Given the description of an element on the screen output the (x, y) to click on. 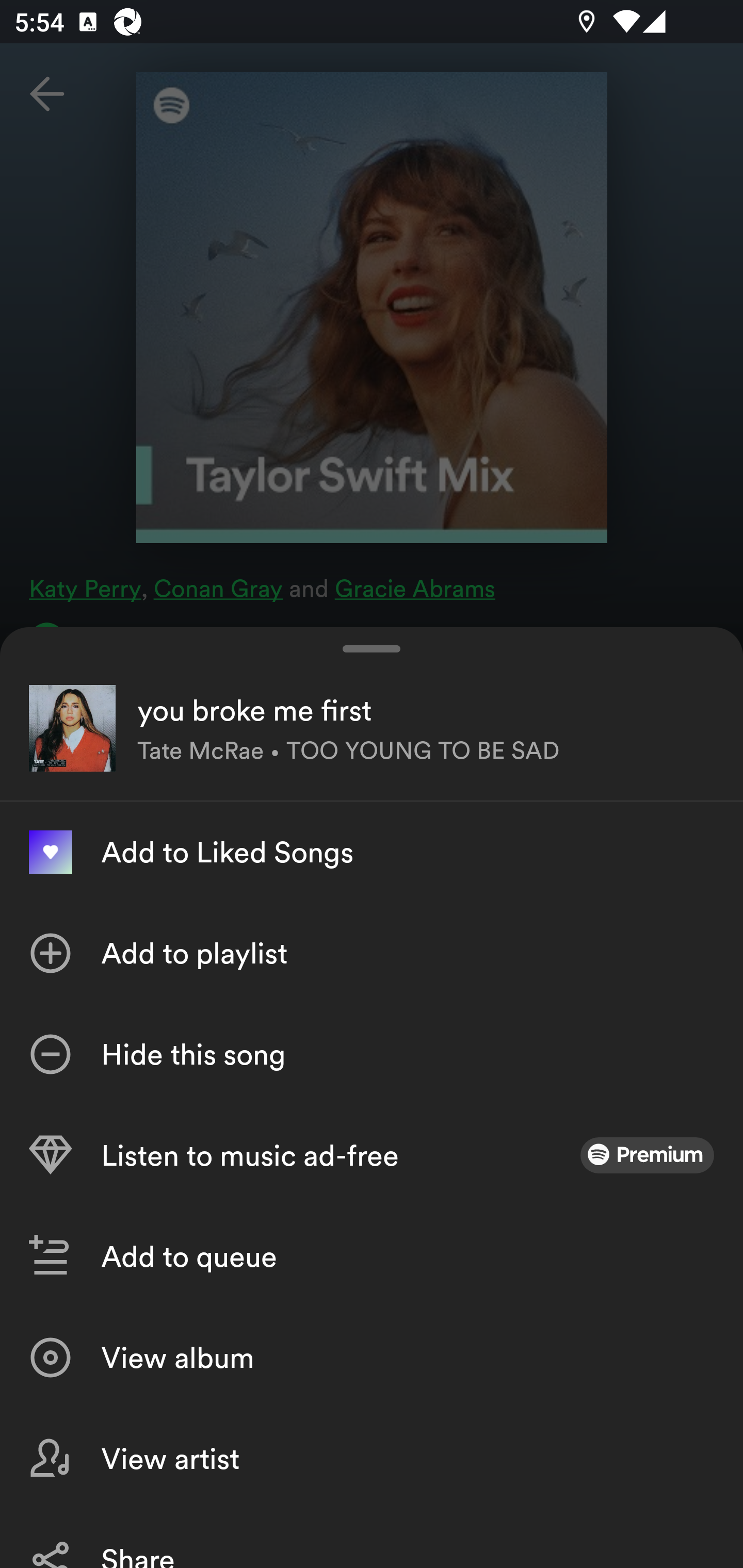
Add to Liked Songs (371, 852)
Add to playlist (371, 953)
Hide this song (371, 1054)
Listen to music ad-free (371, 1155)
Add to queue (371, 1256)
View album (371, 1357)
View artist (371, 1458)
Share (371, 1538)
